Given the description of an element on the screen output the (x, y) to click on. 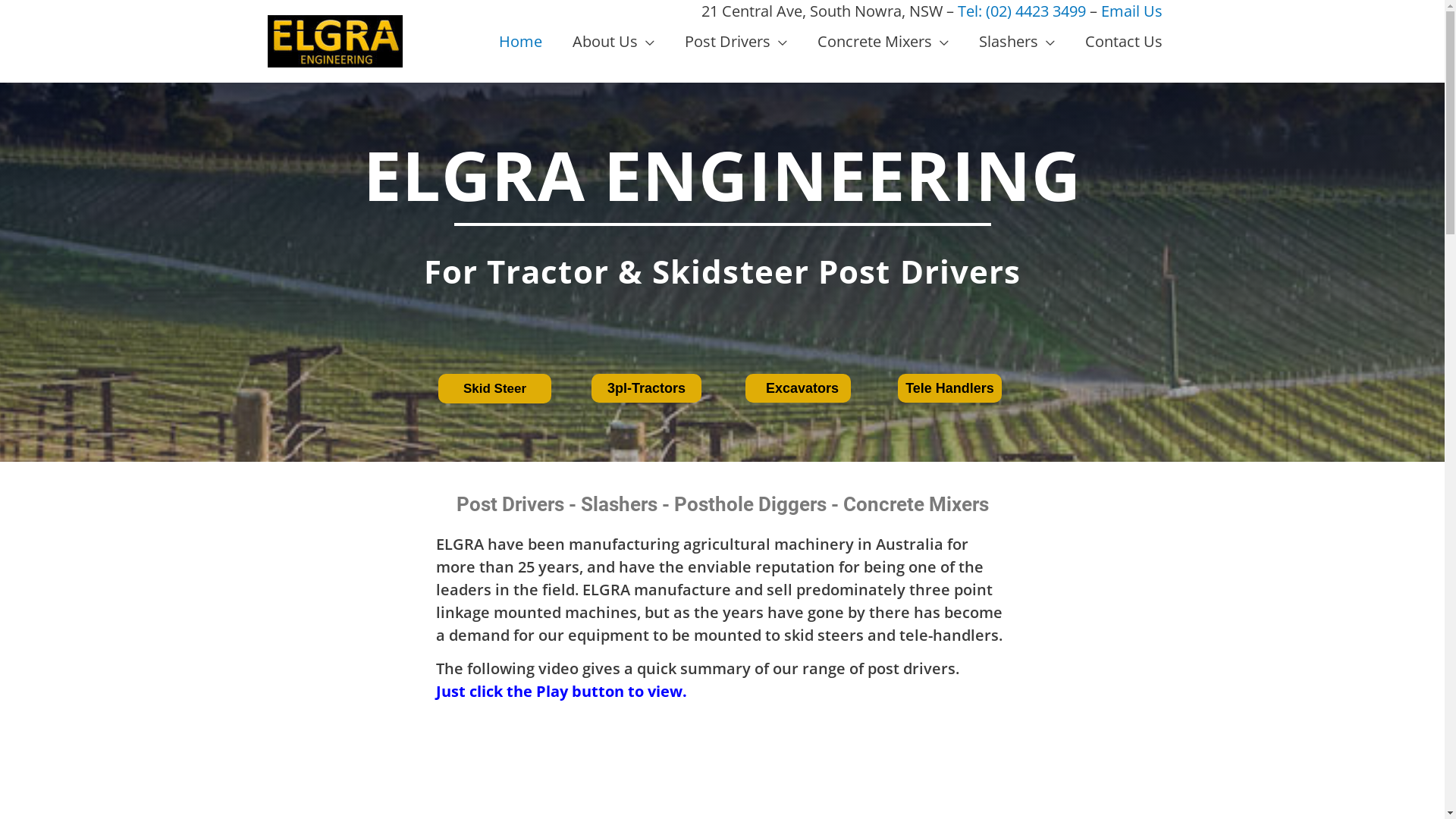
Skid Steer Element type: text (494, 388)
Slashers Element type: text (1016, 40)
Contact Us Element type: text (1122, 40)
About Us Element type: text (612, 40)
Concrete Mixers Element type: text (882, 40)
Email Us Element type: text (1131, 10)
Tel: (02) 4423 3499 Element type: text (1021, 10)
Excavators Element type: text (797, 387)
Post Drivers Element type: text (734, 40)
3pl-Tractors Element type: text (646, 387)
Home Element type: text (520, 40)
Tele Handlers Element type: text (949, 387)
